Given the description of an element on the screen output the (x, y) to click on. 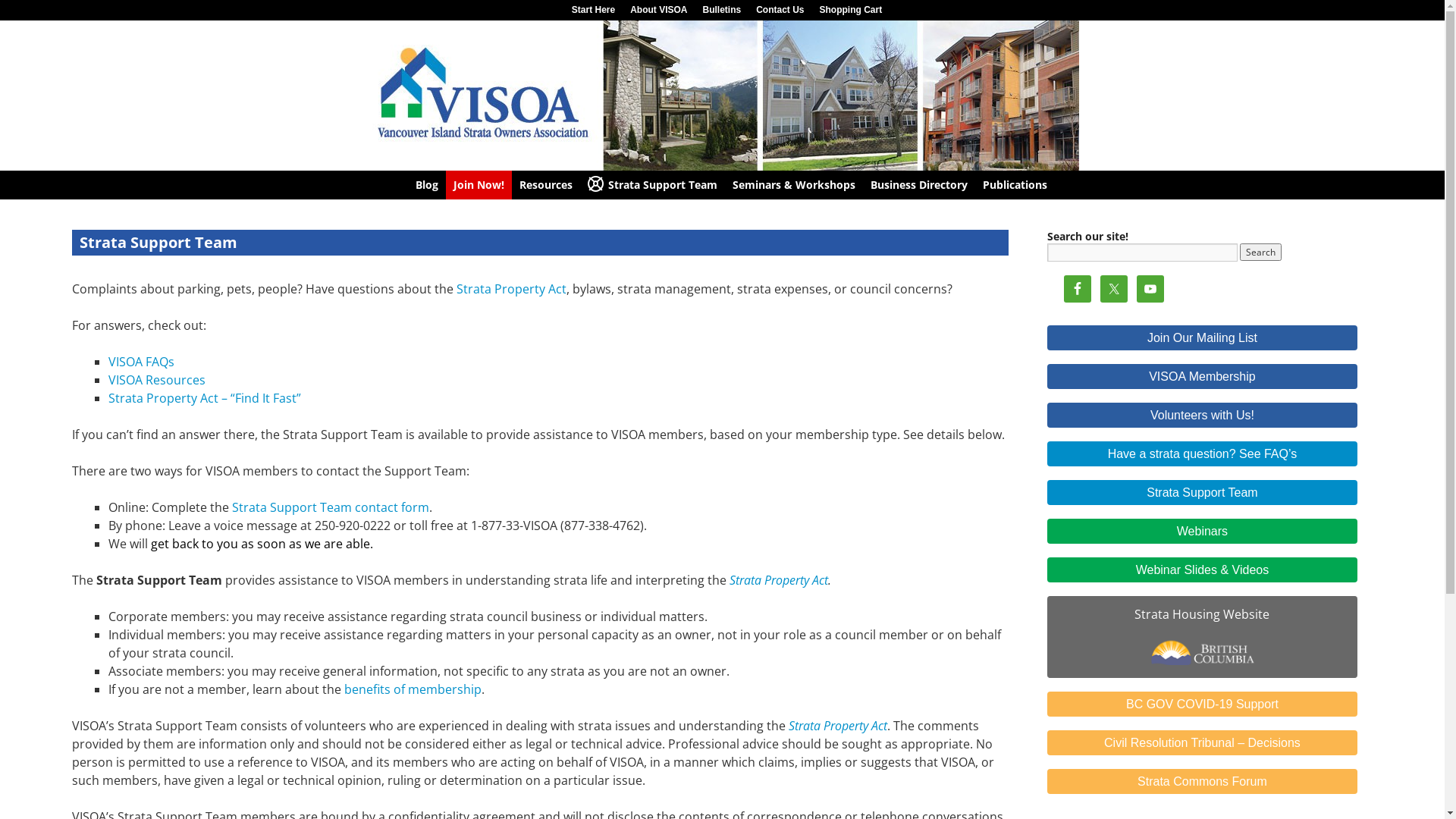
Seminars & Workshops Element type: text (793, 184)
Resources Element type: text (545, 184)
Strata Property Act Element type: text (778, 579)
Join Now! Element type: text (478, 184)
Publications Element type: text (1014, 184)
Strata Support Team contact form Element type: text (330, 506)
Blog Element type: text (426, 184)
Strata Property Act Element type: text (511, 288)
Strata Support Team Element type: text (652, 184)
Search Element type: text (1260, 251)
Volunteers with Us! Element type: text (1202, 414)
Webinar Slides & Videos Element type: text (1202, 569)
Webinars Element type: text (1202, 530)
Strata Property Act Element type: text (837, 725)
Business Directory Element type: text (918, 184)
Skip to content Element type: text (7, 213)
Join Our Mailing List Element type: text (1202, 337)
VISOA Resources Element type: text (156, 379)
Strata Commons Forum Element type: text (1202, 780)
VISOA FAQs Element type: text (141, 361)
VISOA Membership Element type: text (1202, 376)
Strata Support Team Element type: text (1202, 492)
benefits of membership Element type: text (412, 688)
BC GOV COVID-19 Support Element type: text (1202, 703)
Strata Housing Website Element type: text (1202, 636)
